Given the description of an element on the screen output the (x, y) to click on. 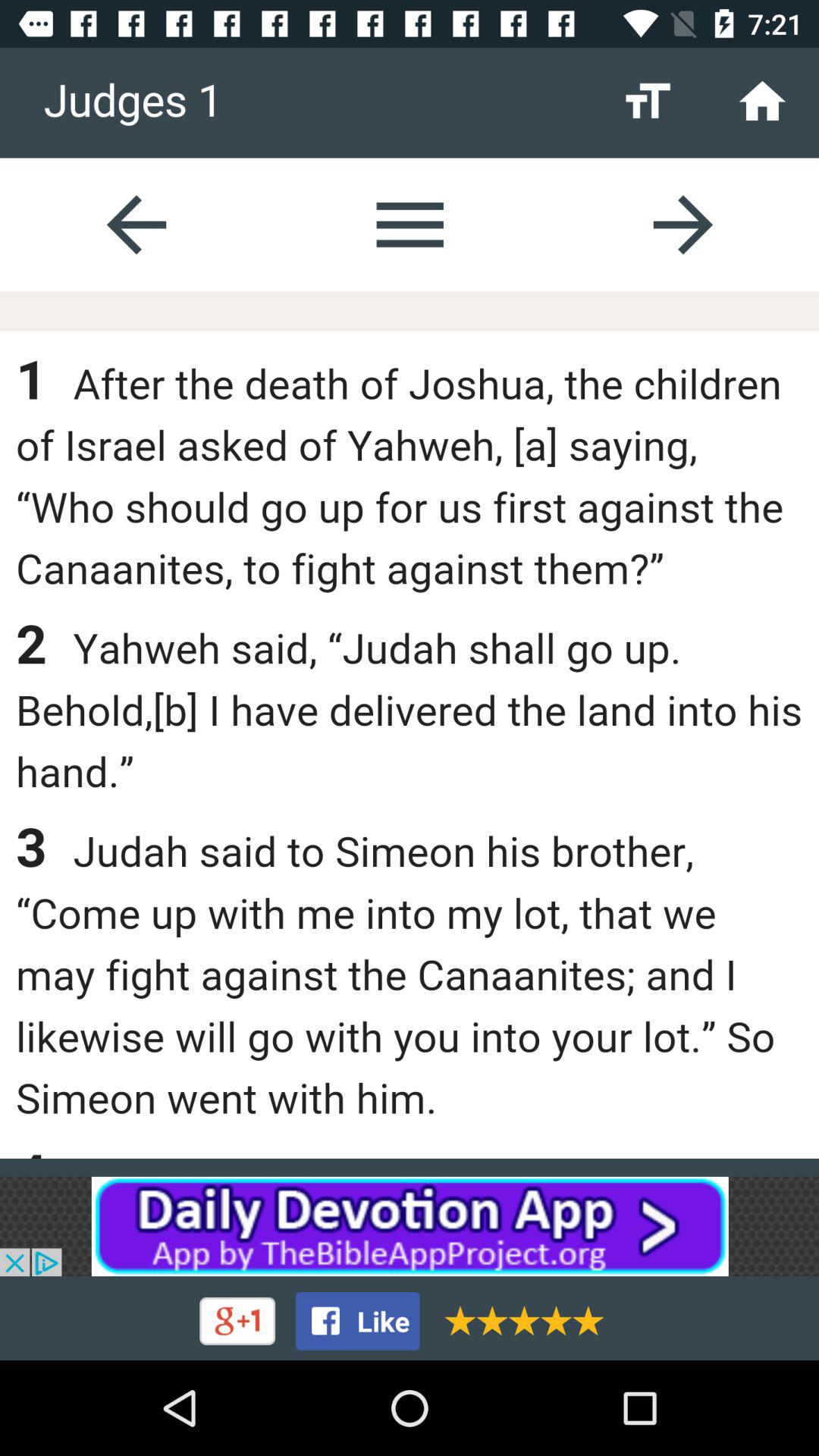
favorited (518, 1320)
